Given the description of an element on the screen output the (x, y) to click on. 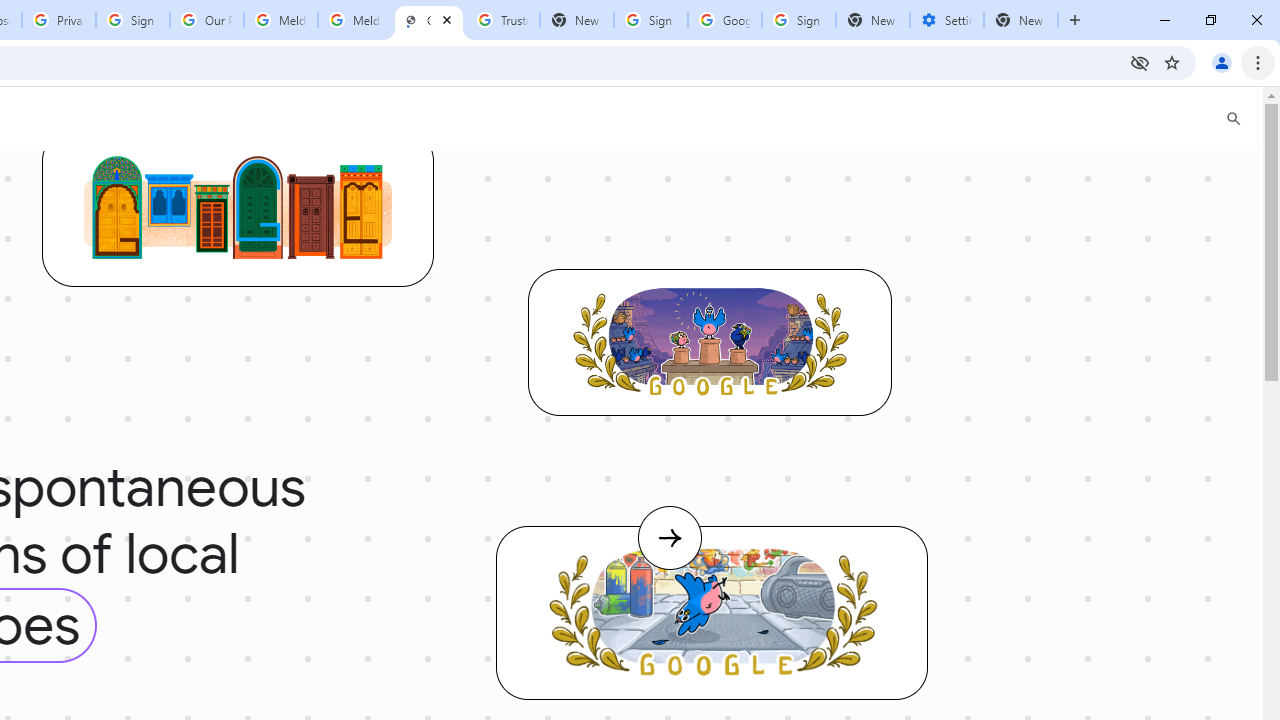
Settings - Addresses and more (947, 20)
Google Cybersecurity Innovations - Google Safety Center (724, 20)
Sign in - Google Accounts (798, 20)
Sign in - Google Accounts (133, 20)
New Tab (1021, 20)
Sign in - Google Accounts (651, 20)
